Given the description of an element on the screen output the (x, y) to click on. 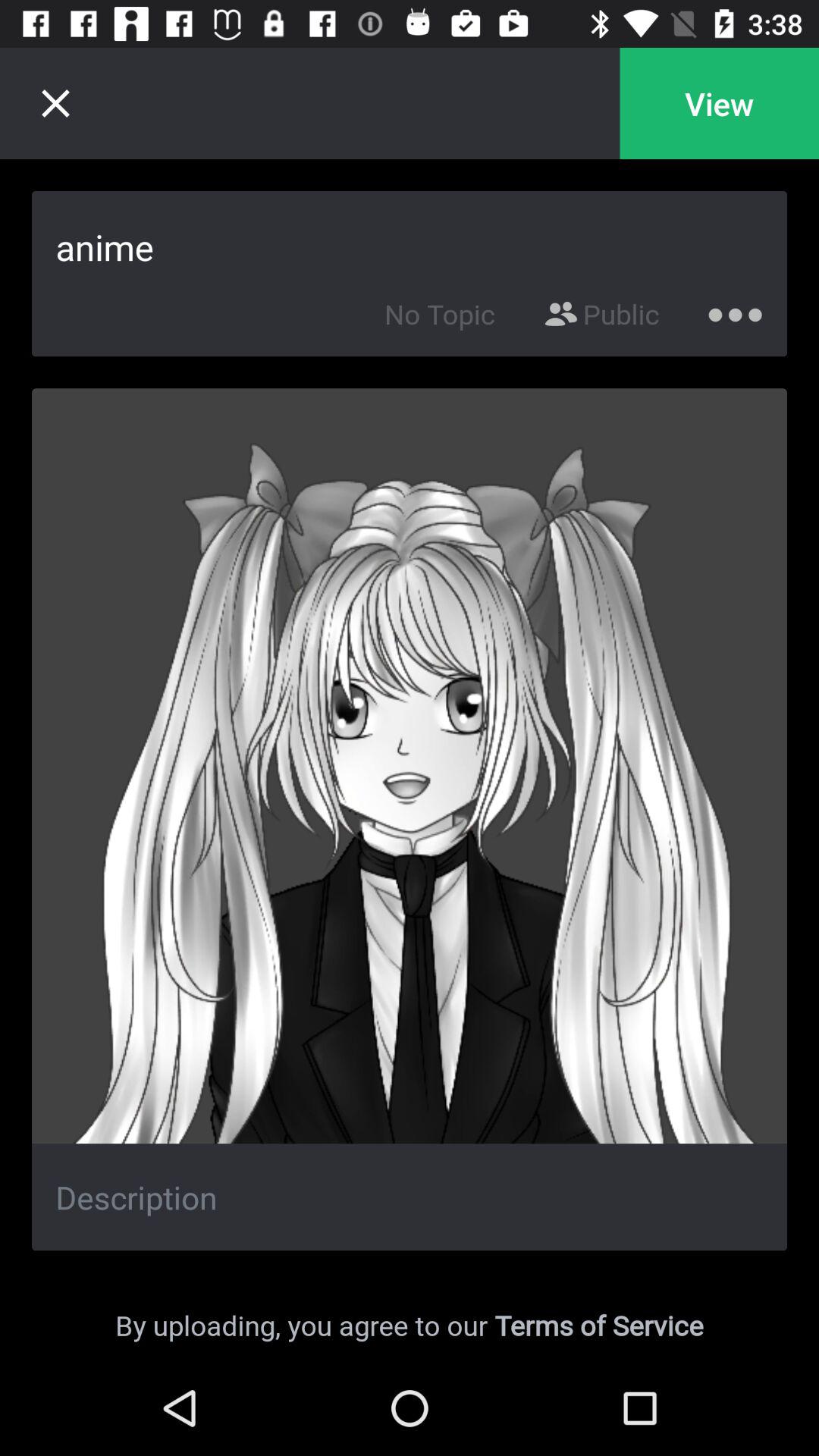
description of the current image (409, 1196)
